Given the description of an element on the screen output the (x, y) to click on. 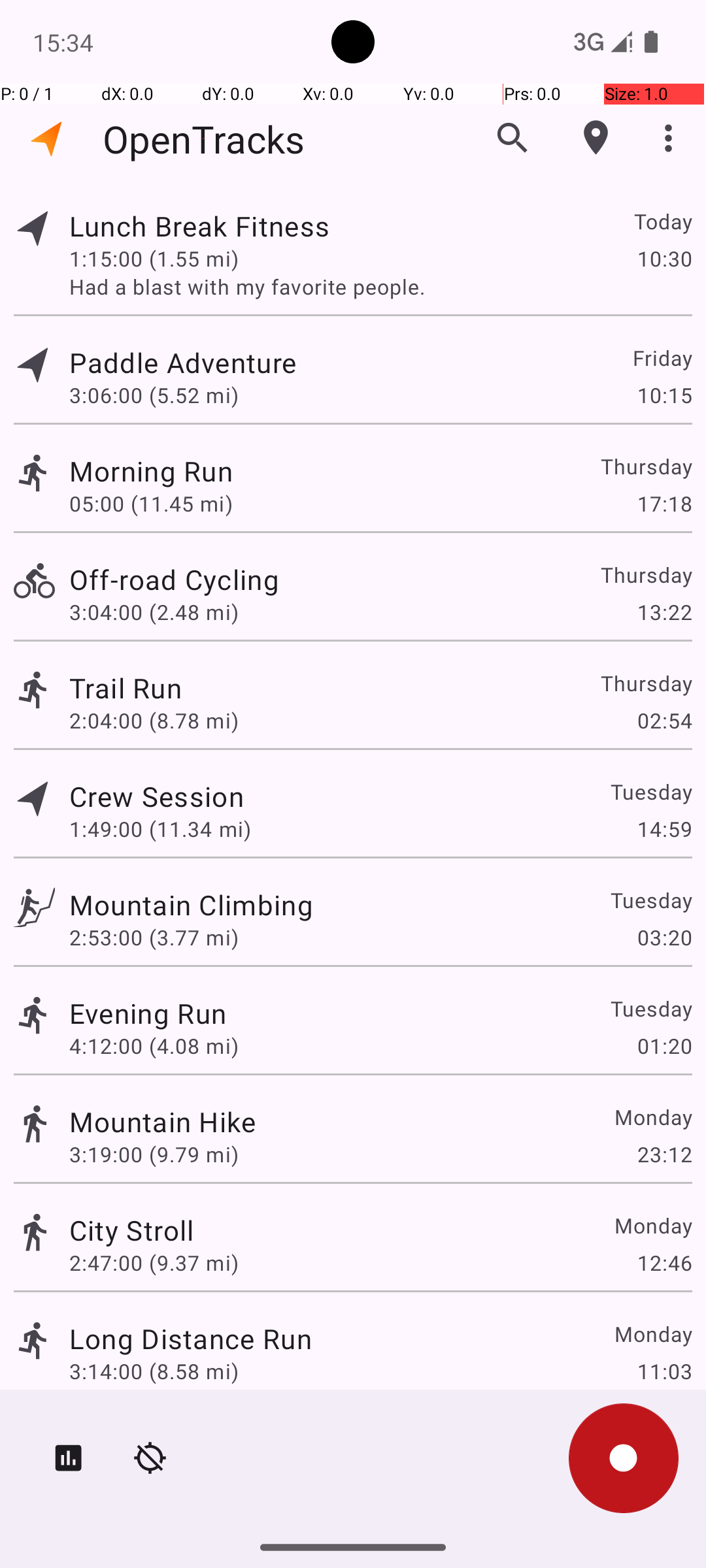
Lunch Break Fitness Element type: android.widget.TextView (199, 225)
1:15:00 (1.55 mi) Element type: android.widget.TextView (153, 258)
10:30 Element type: android.widget.TextView (664, 258)
Had a blast with my favorite people. Element type: android.widget.TextView (380, 286)
Paddle Adventure Element type: android.widget.TextView (182, 361)
3:06:00 (5.52 mi) Element type: android.widget.TextView (153, 394)
10:15 Element type: android.widget.TextView (664, 394)
Morning Run Element type: android.widget.TextView (150, 470)
05:00 (11.45 mi) Element type: android.widget.TextView (150, 503)
17:18 Element type: android.widget.TextView (664, 503)
Off-road Cycling Element type: android.widget.TextView (173, 578)
3:04:00 (2.48 mi) Element type: android.widget.TextView (153, 611)
13:22 Element type: android.widget.TextView (664, 611)
Trail Run Element type: android.widget.TextView (125, 687)
2:04:00 (8.78 mi) Element type: android.widget.TextView (153, 720)
02:54 Element type: android.widget.TextView (664, 720)
Crew Session Element type: android.widget.TextView (156, 795)
1:49:00 (11.34 mi) Element type: android.widget.TextView (159, 828)
14:59 Element type: android.widget.TextView (664, 828)
Mountain Climbing Element type: android.widget.TextView (190, 904)
2:53:00 (3.77 mi) Element type: android.widget.TextView (153, 937)
03:20 Element type: android.widget.TextView (664, 937)
Evening Run Element type: android.widget.TextView (147, 1012)
4:12:00 (4.08 mi) Element type: android.widget.TextView (153, 1045)
01:20 Element type: android.widget.TextView (664, 1045)
Mountain Hike Element type: android.widget.TextView (162, 1121)
3:19:00 (9.79 mi) Element type: android.widget.TextView (153, 1154)
23:12 Element type: android.widget.TextView (664, 1154)
City Stroll Element type: android.widget.TextView (131, 1229)
2:47:00 (9.37 mi) Element type: android.widget.TextView (153, 1262)
12:46 Element type: android.widget.TextView (664, 1262)
Long Distance Run Element type: android.widget.TextView (190, 1337)
3:14:00 (8.58 mi) Element type: android.widget.TextView (153, 1370)
11:03 Element type: android.widget.TextView (664, 1370)
